Given the description of an element on the screen output the (x, y) to click on. 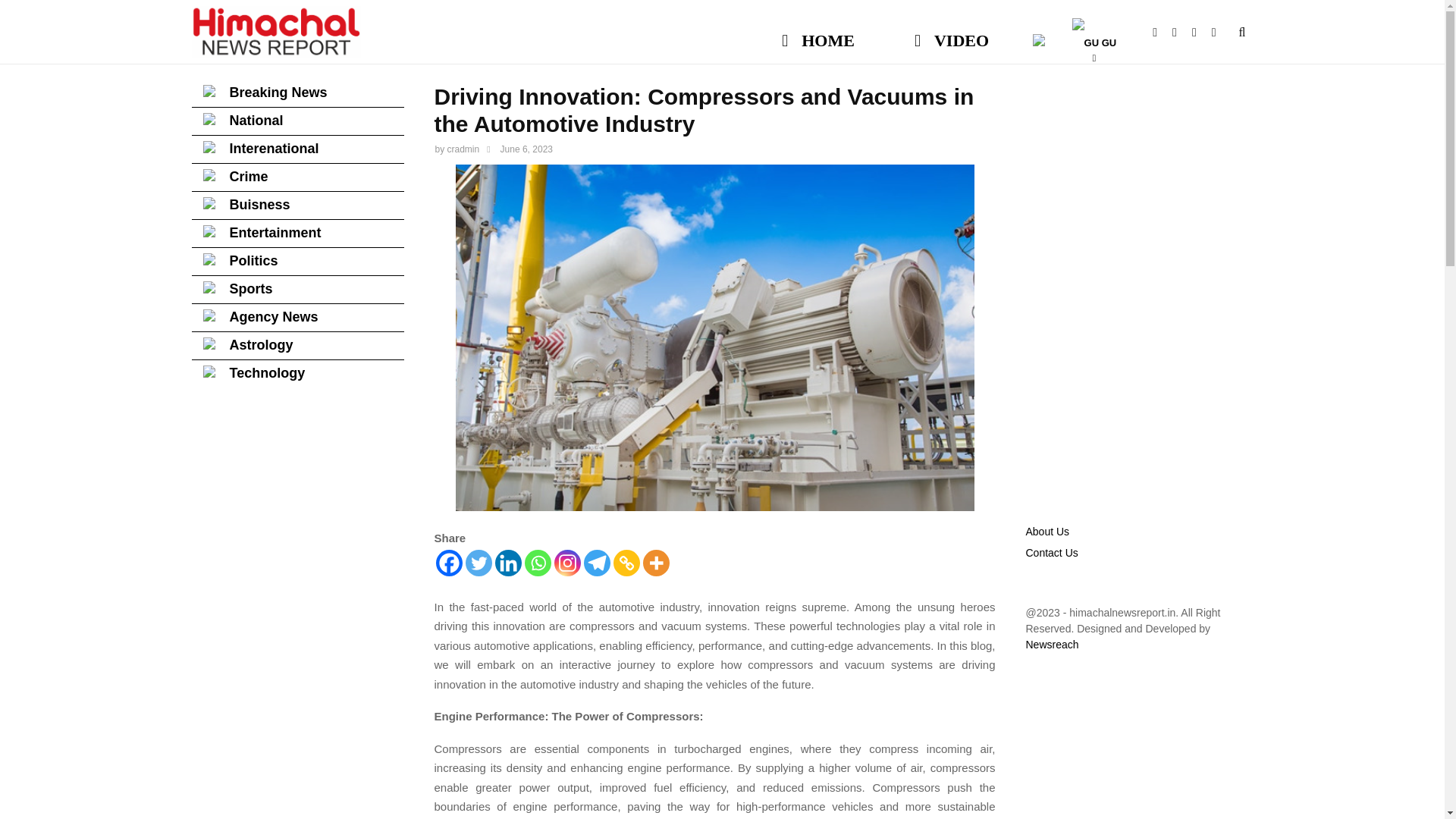
Linkedin (508, 562)
Whatsapp (537, 562)
Copy Link (625, 562)
Whatsapp (1221, 31)
cradmin (463, 149)
Youtube (1182, 31)
Twitter (478, 562)
Facebook (448, 562)
VIDEO (950, 33)
More (656, 562)
Telegram (596, 562)
Instagram (566, 562)
GU (1094, 33)
HOME (818, 33)
Facebook (1162, 31)
